Given the description of an element on the screen output the (x, y) to click on. 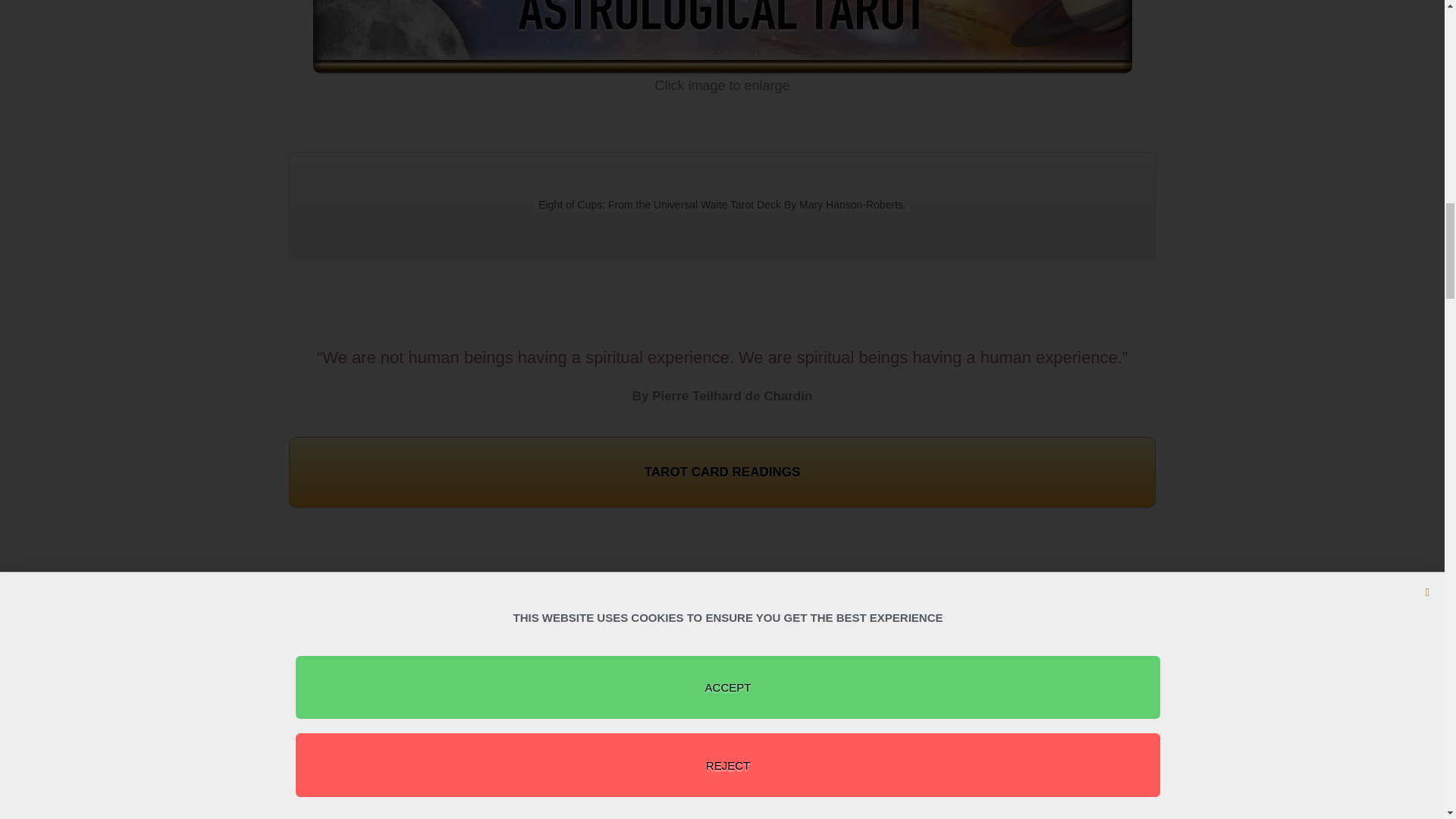
TAROT CARD READINGS (722, 471)
FOLLOW ME ON INSTAGRAM (722, 721)
